Given the description of an element on the screen output the (x, y) to click on. 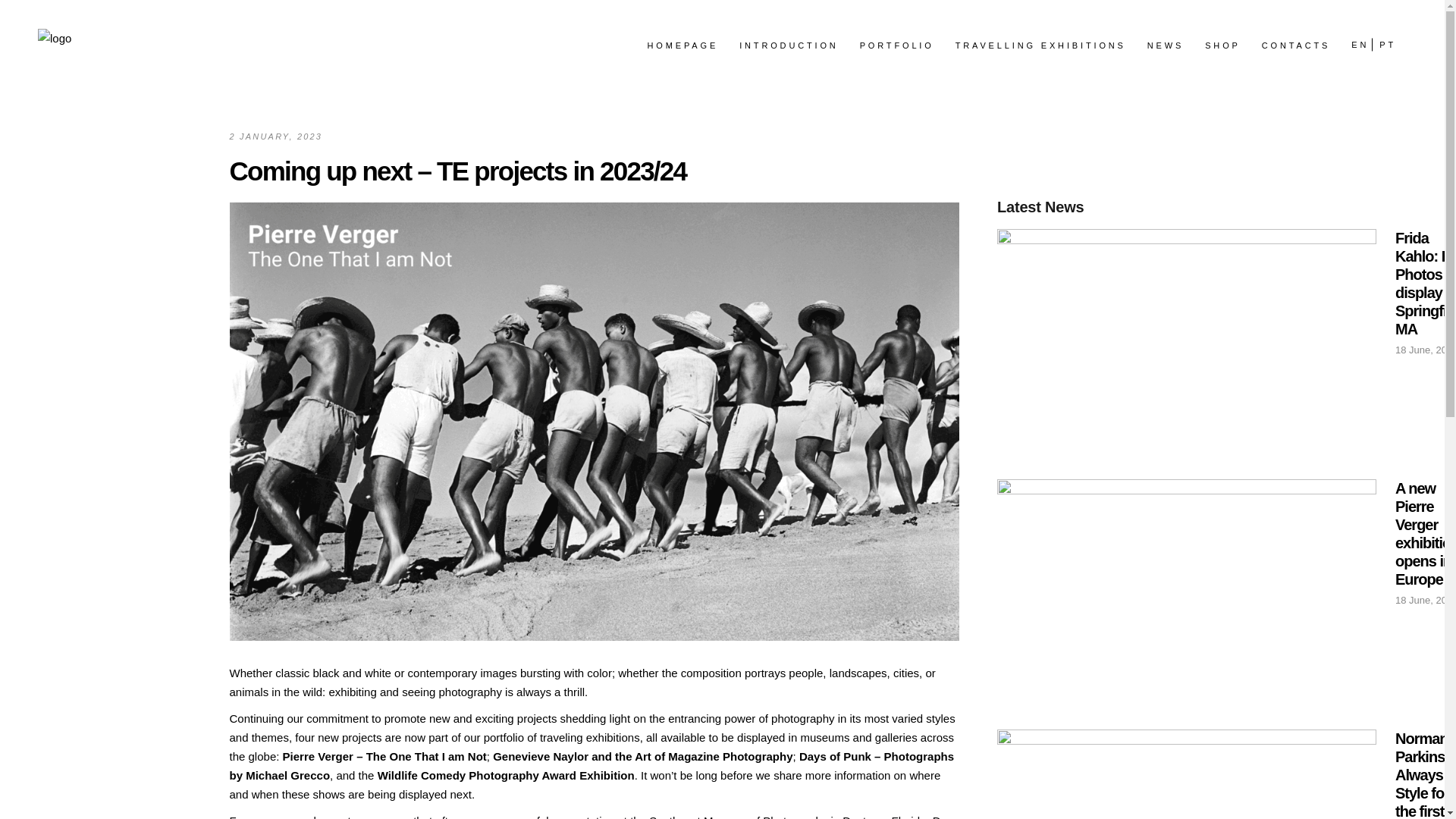
HOMEPAGE (683, 45)
INTRODUCTION (788, 45)
A new Pierre Verger exhibition opens in Europe (1186, 592)
TRAVELLING EXHIBITIONS (1040, 45)
PORTFOLIO (896, 45)
CONTACTS (1295, 45)
Frida Kahlo: Her Photos on display in Springfield, MA (1186, 342)
